Given the description of an element on the screen output the (x, y) to click on. 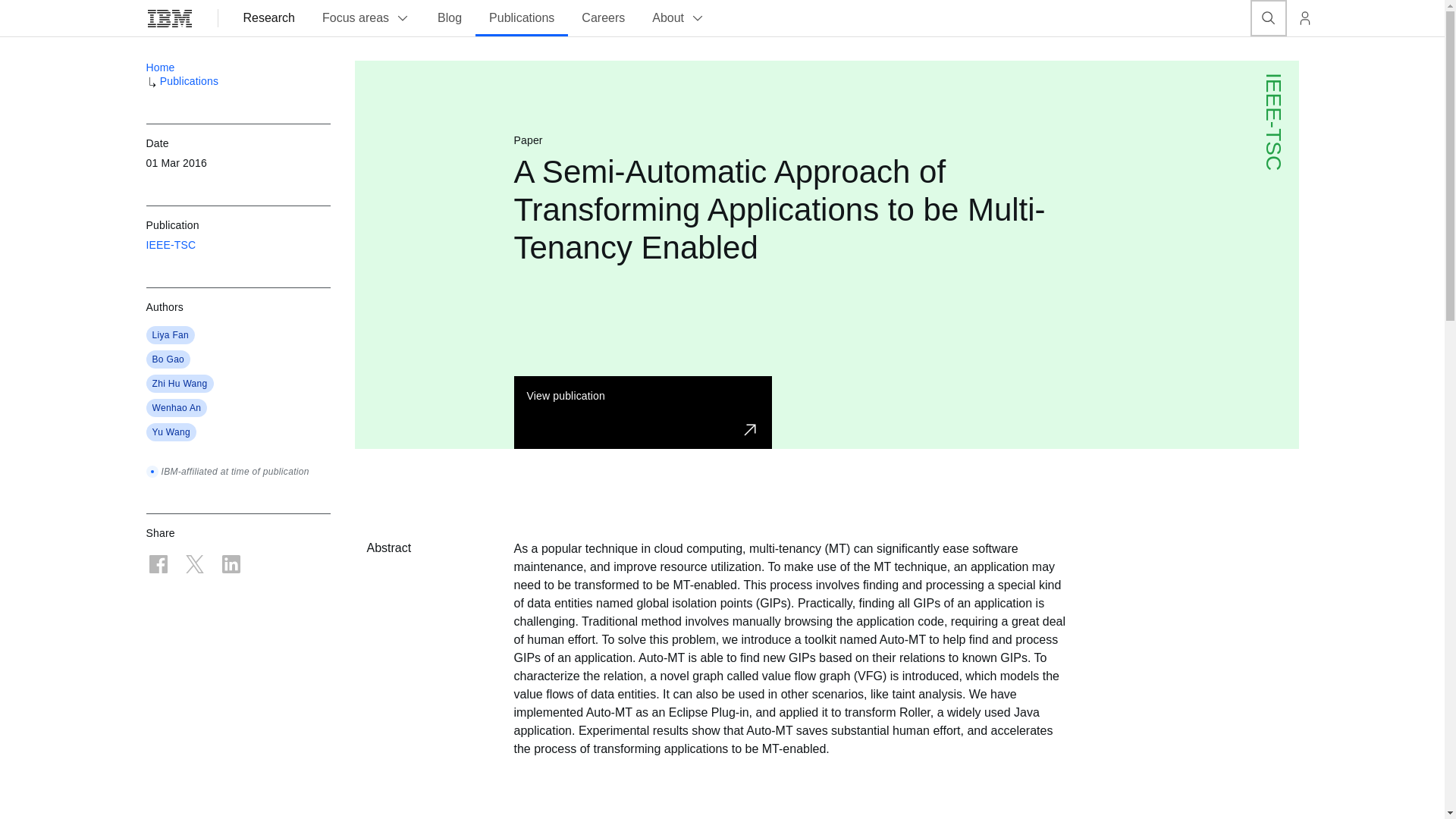
Liya Fan (170, 335)
Wenhao An (175, 408)
Zhi Hu Wang (178, 383)
Bo Gao (167, 358)
Yu Wang (170, 431)
